Given the description of an element on the screen output the (x, y) to click on. 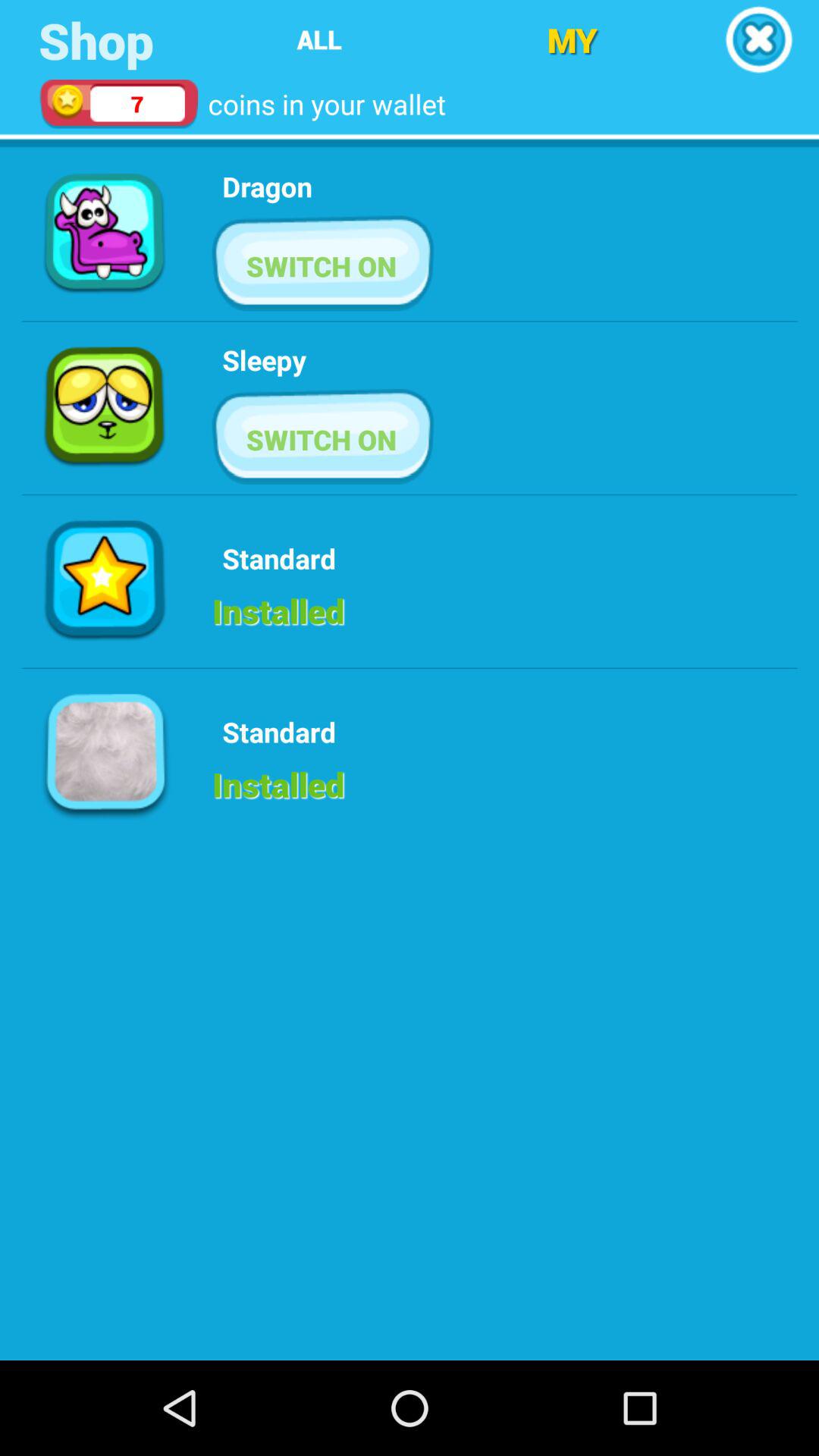
click the item next to 7 icon (318, 39)
